Given the description of an element on the screen output the (x, y) to click on. 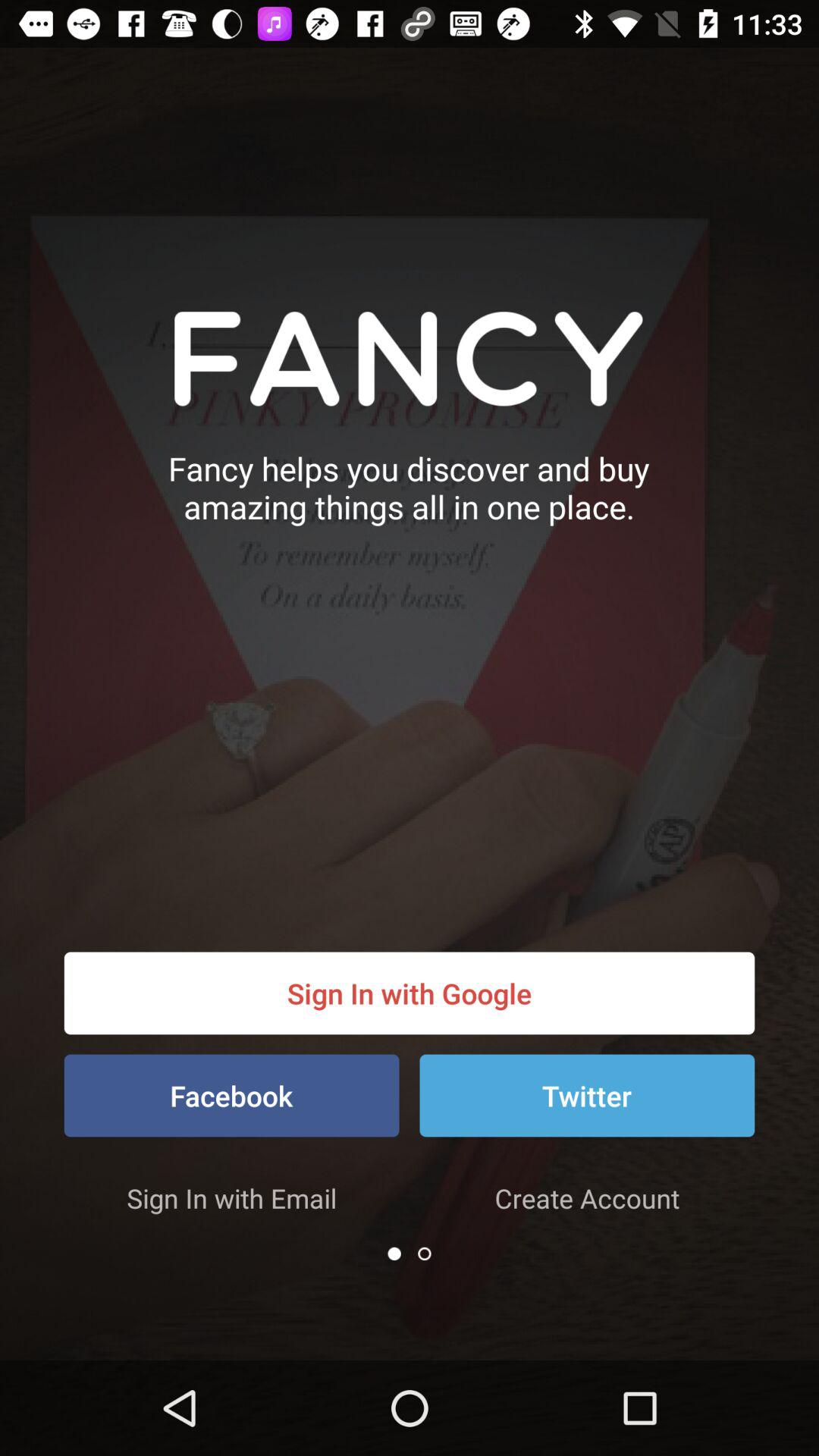
swipe to the facebook item (231, 1095)
